Given the description of an element on the screen output the (x, y) to click on. 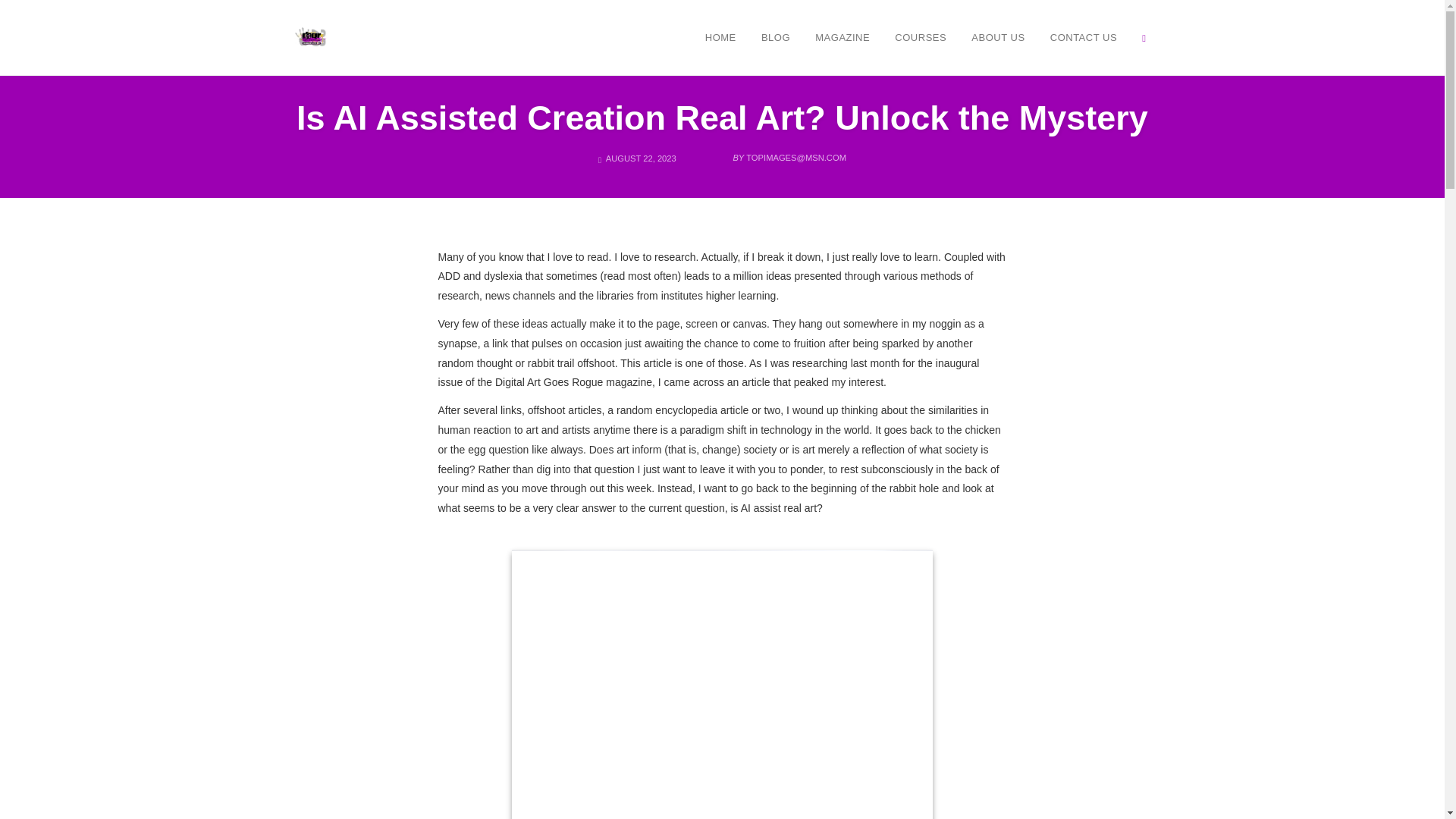
Digital Art Goes Rogue (310, 37)
COURSES (920, 37)
BLOG (774, 37)
OPEN SEARCH FORM (1144, 37)
ABOUT US (997, 37)
CONTACT US (1083, 37)
HOME (720, 37)
Is AI Assisted Creation Real Art? Unlock the Mystery (722, 117)
MAGAZINE (841, 37)
